Given the description of an element on the screen output the (x, y) to click on. 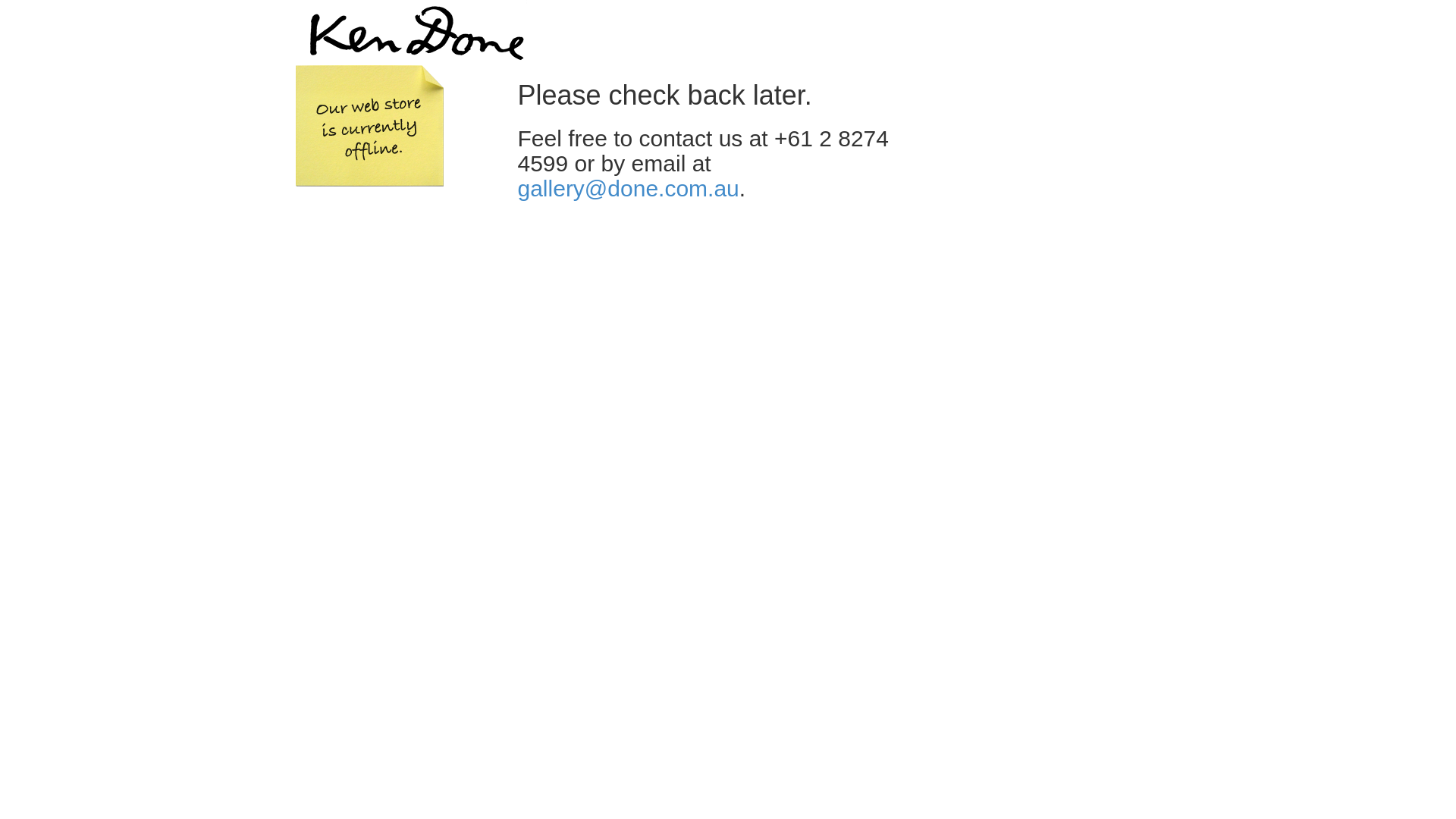
gallery@done.com.au Element type: text (627, 187)
